Given the description of an element on the screen output the (x, y) to click on. 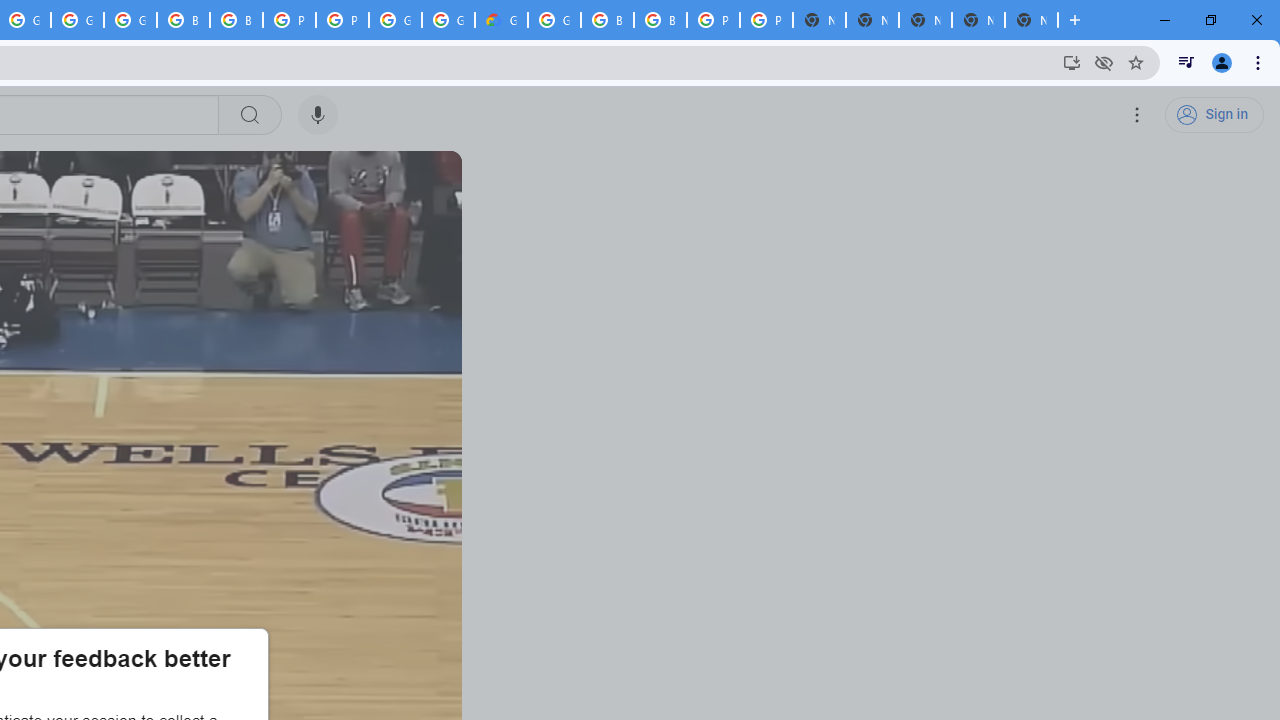
Google Cloud Platform (448, 20)
Install YouTube (1071, 62)
Google Cloud Estimate Summary (501, 20)
Browse Chrome as a guest - Computer - Google Chrome Help (607, 20)
New Tab (1031, 20)
Google Cloud Platform (395, 20)
